Given the description of an element on the screen output the (x, y) to click on. 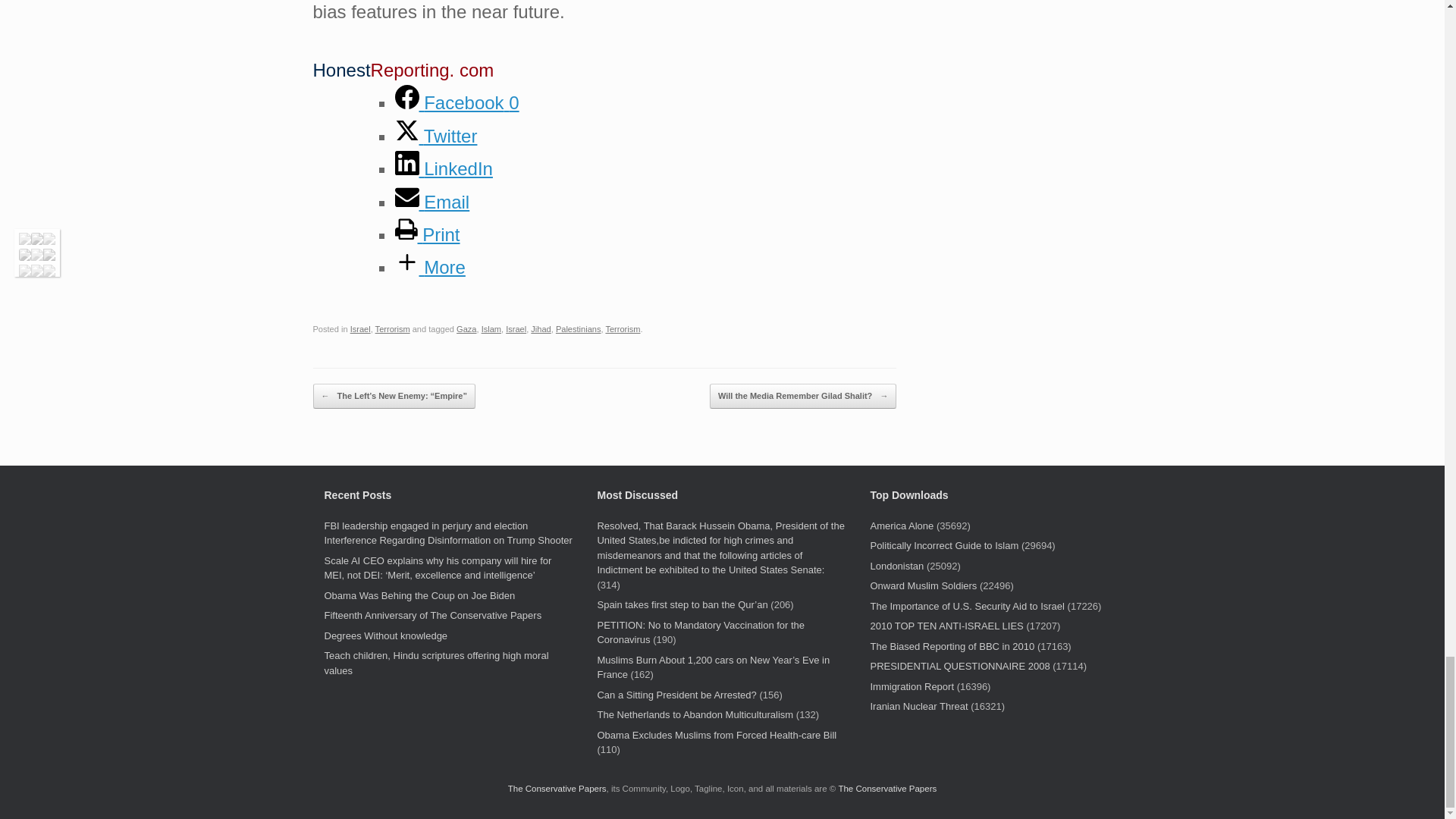
Twitter (435, 136)
Facebook 0 (456, 102)
Terrorism (392, 328)
More (429, 267)
Email (431, 201)
Print (427, 234)
Israel (360, 328)
LinkedIn (443, 168)
